Given the description of an element on the screen output the (x, y) to click on. 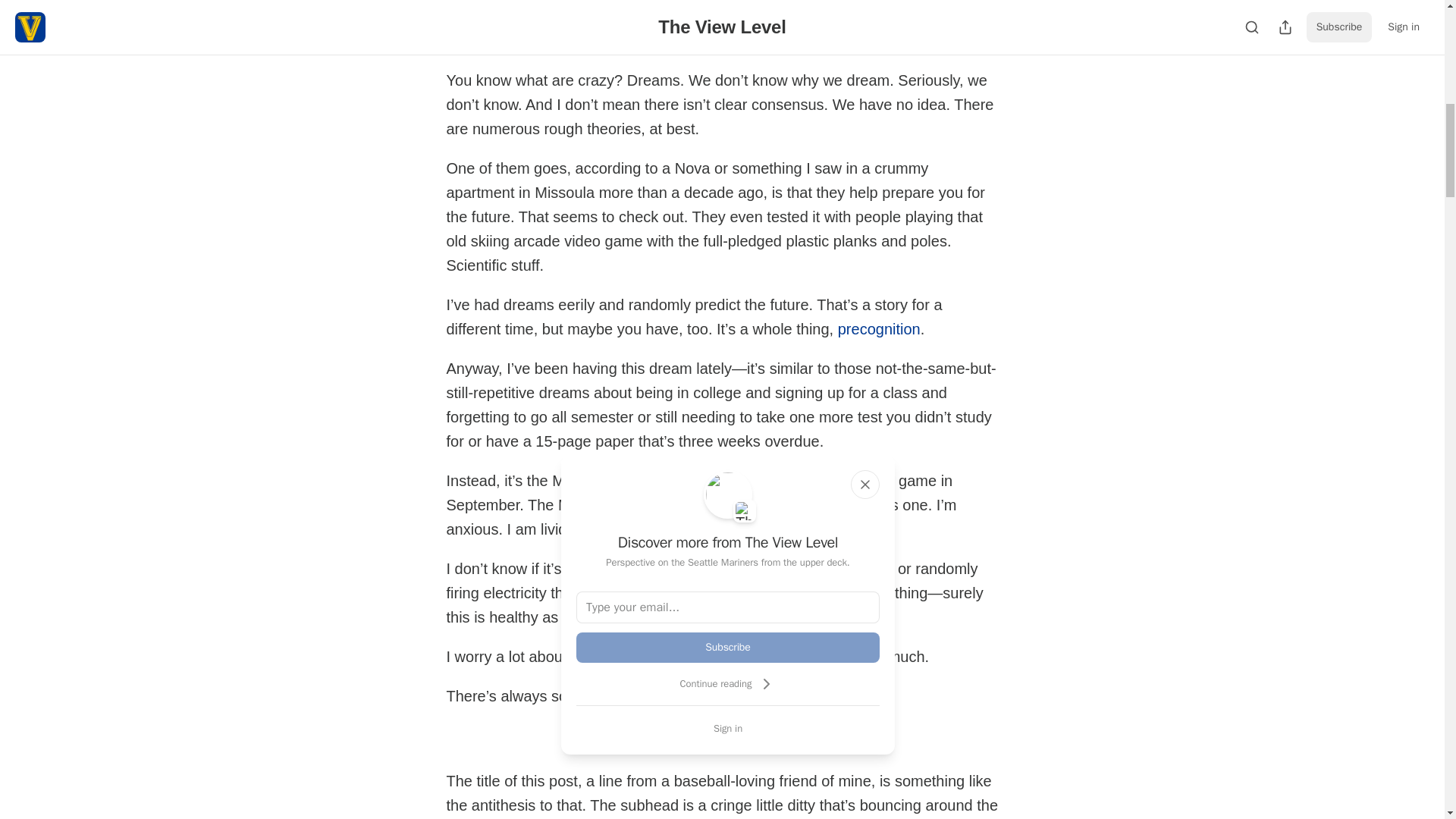
Subscribe (727, 647)
Sign in (727, 727)
precognition (879, 329)
Subscribe (827, 738)
